Given the description of an element on the screen output the (x, y) to click on. 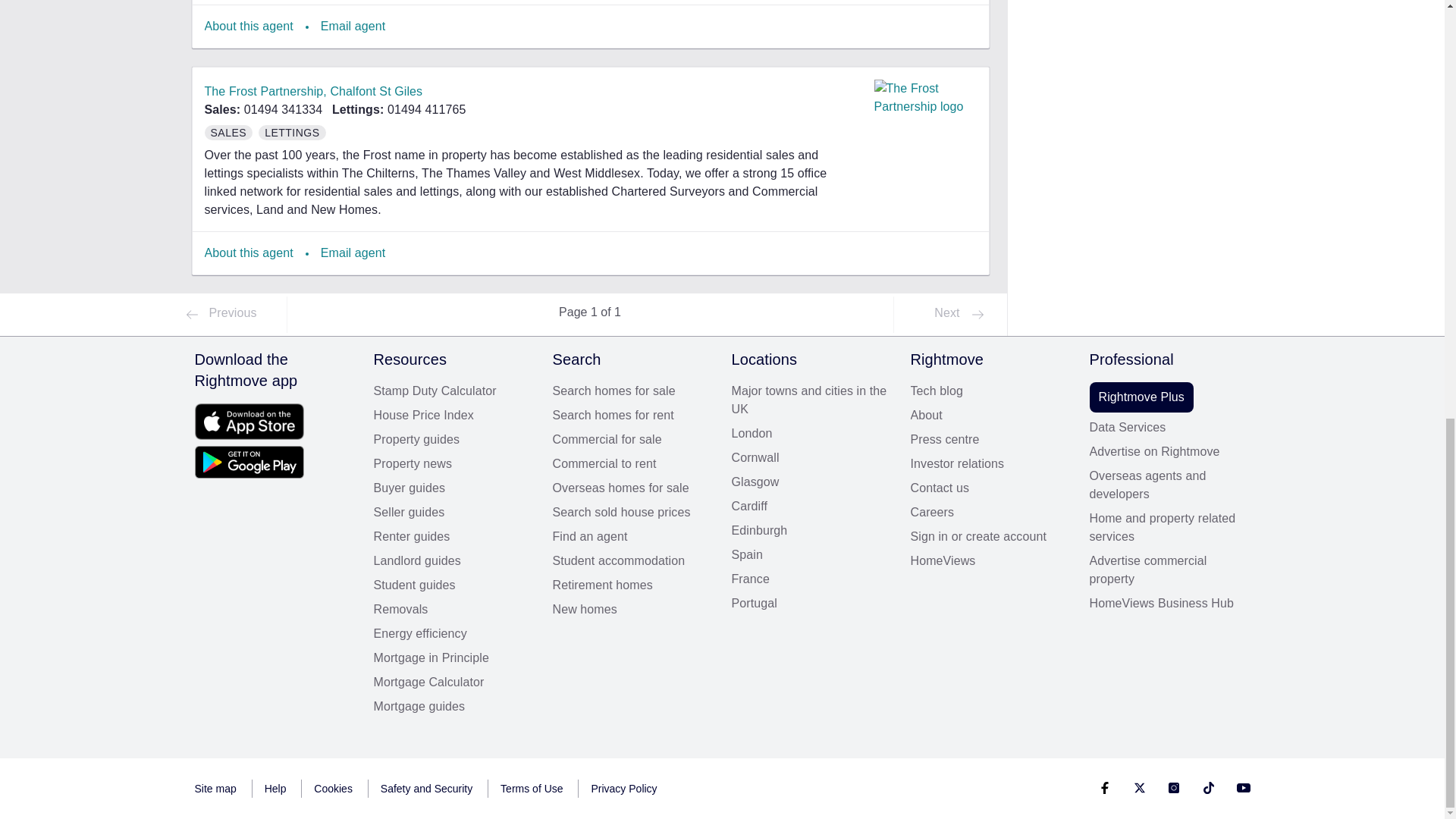
Mortgage in Principle (453, 658)
Search homes for sale (632, 391)
Energy efficiency (453, 633)
Search homes for rent (632, 415)
Property news (453, 464)
Mortgage calculator (453, 682)
Seller guides (453, 512)
Stamp duty calculator (453, 391)
Buyer guides (453, 488)
Commercial to rent (632, 464)
Search sold house prices (632, 512)
Mortgage guides (453, 706)
Landlord guides (453, 561)
House price index (453, 415)
Property guides (453, 439)
